Given the description of an element on the screen output the (x, y) to click on. 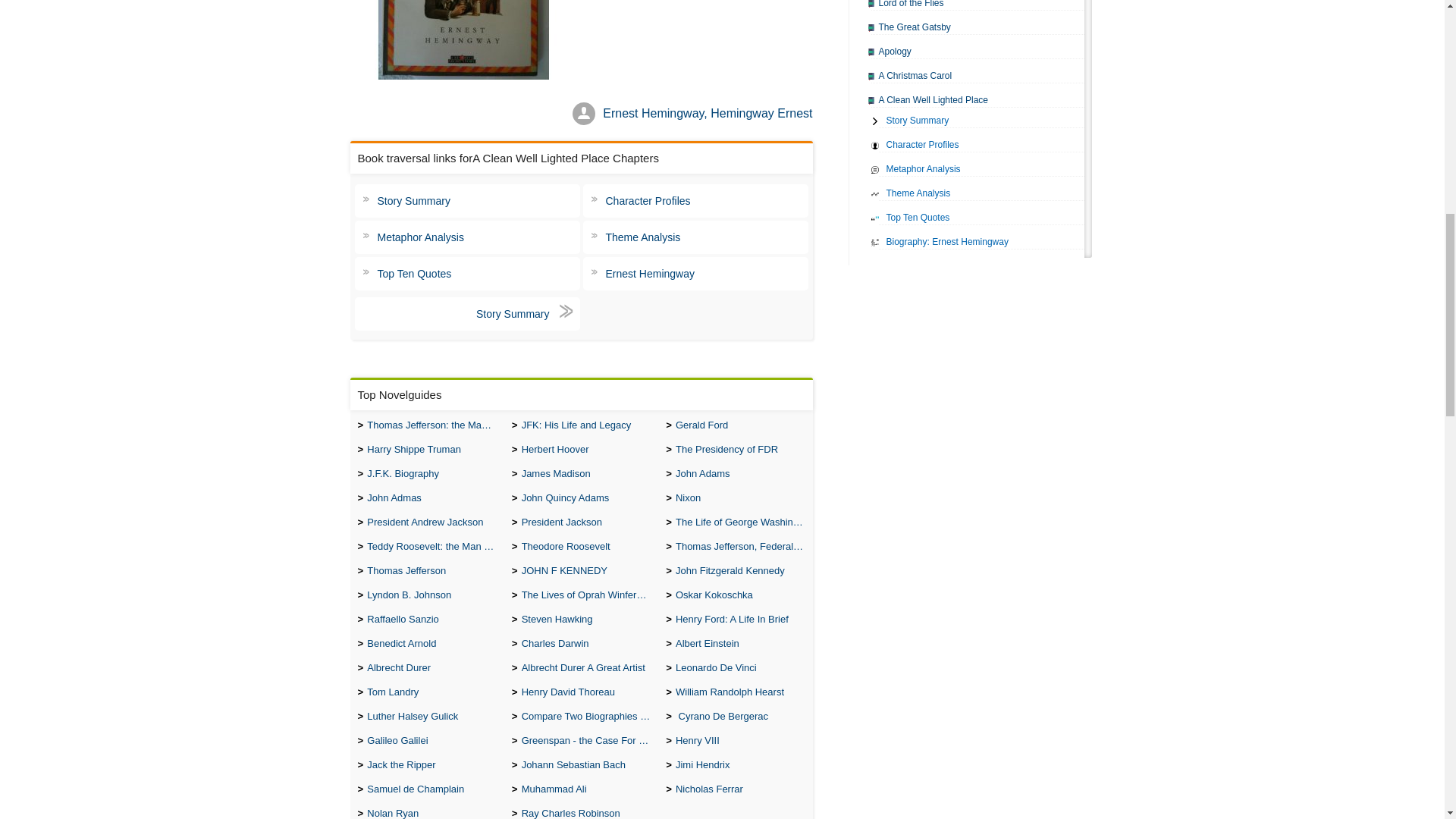
Go to next page (467, 313)
